Given the description of an element on the screen output the (x, y) to click on. 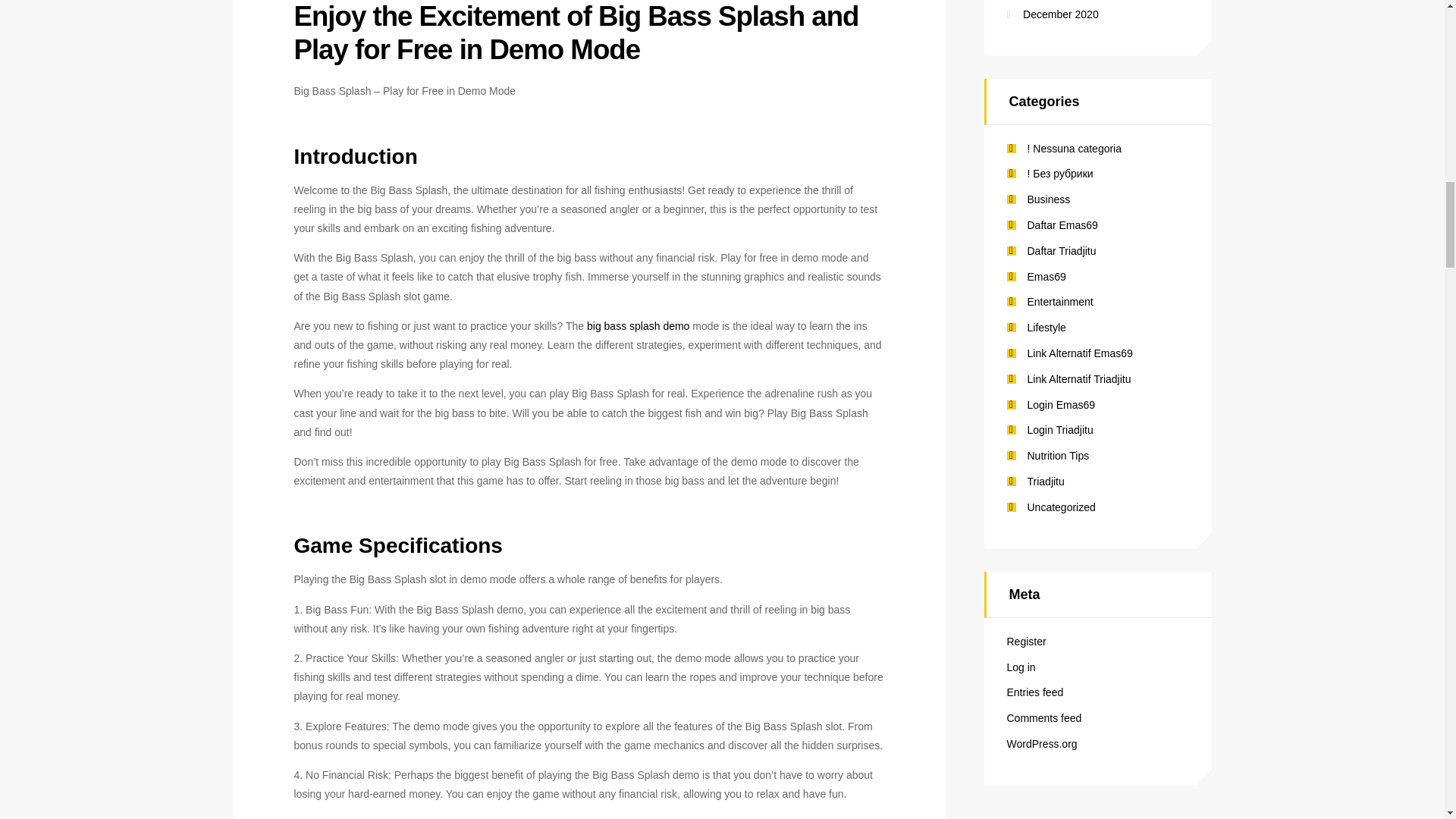
big bass splash demo (637, 326)
